Given the description of an element on the screen output the (x, y) to click on. 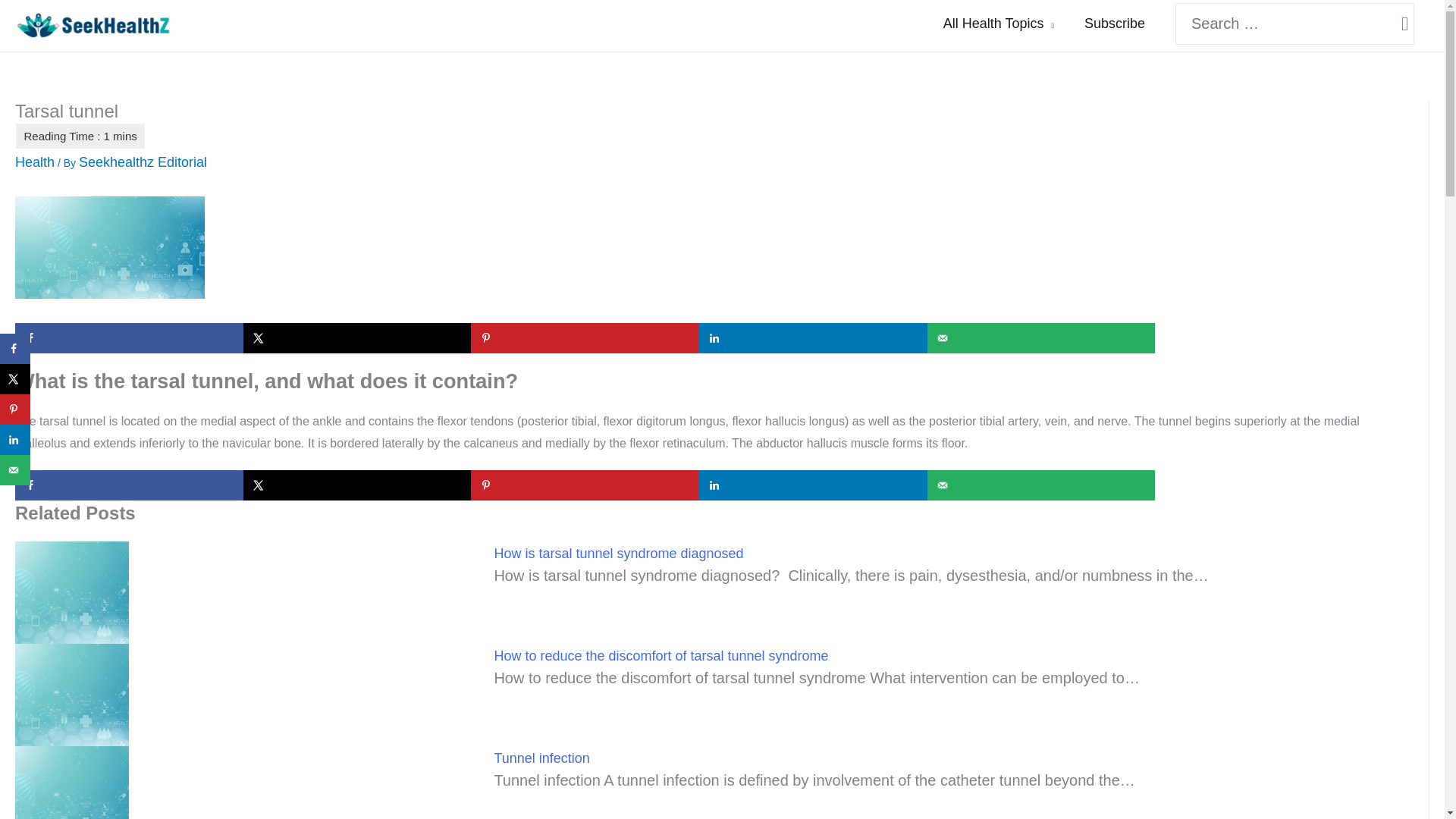
How is tarsal tunnel syndrome diagnosed (617, 553)
Send over email (1041, 485)
Subscribe (1114, 23)
Save to Pinterest (584, 337)
Share on LinkedIn (812, 485)
All Health Topics (998, 23)
How to reduce the discomfort of tarsal tunnel syndrome (660, 655)
Tunnel infection (541, 758)
Share on LinkedIn (812, 337)
Share on LinkedIn (15, 440)
